Given the description of an element on the screen output the (x, y) to click on. 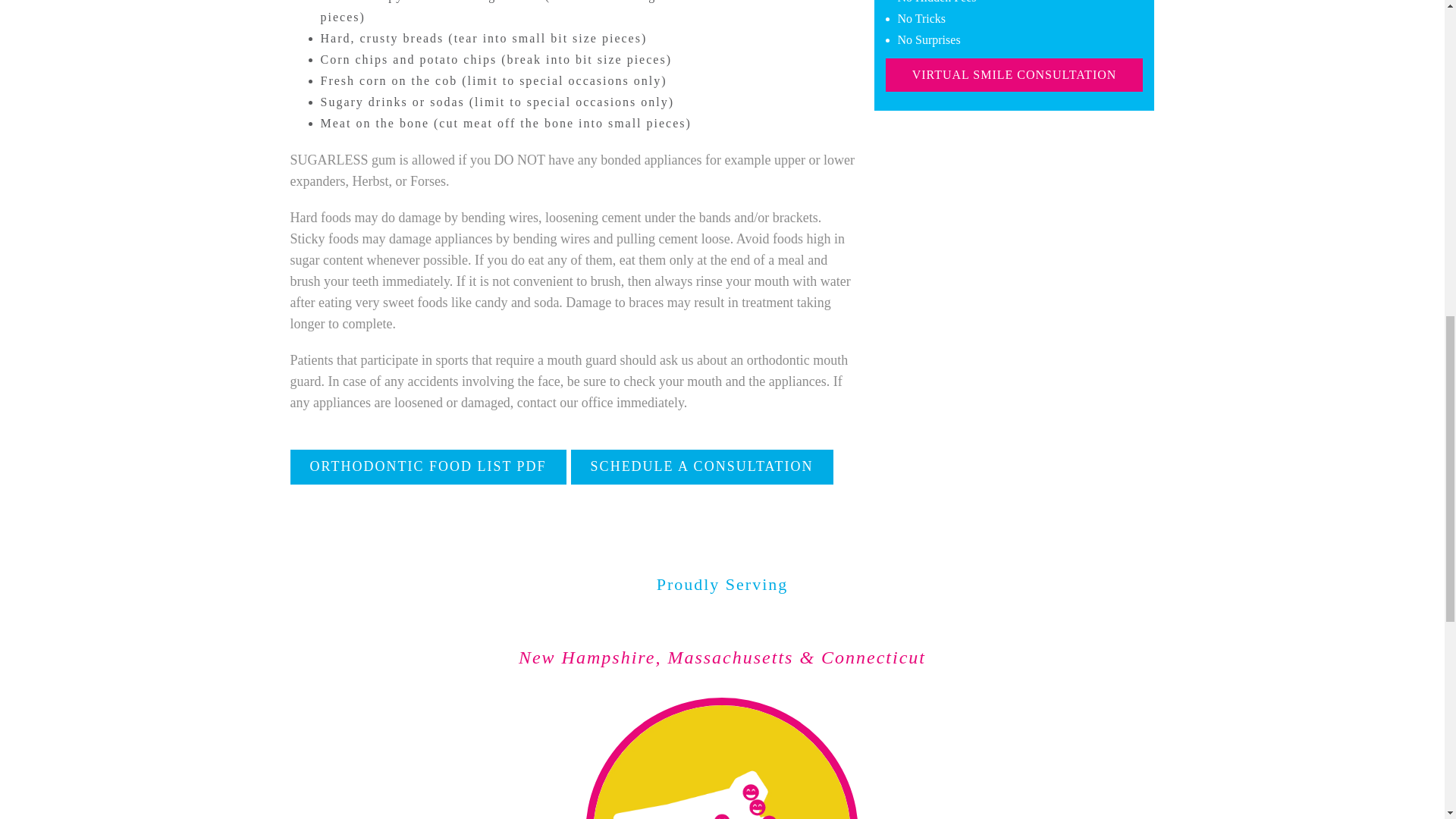
VIRTUAL SMILE CONSULTATION (1013, 74)
SCHEDULE A CONSULTATION (701, 466)
ORTHODONTIC FOOD LIST PDF (427, 466)
